Given the description of an element on the screen output the (x, y) to click on. 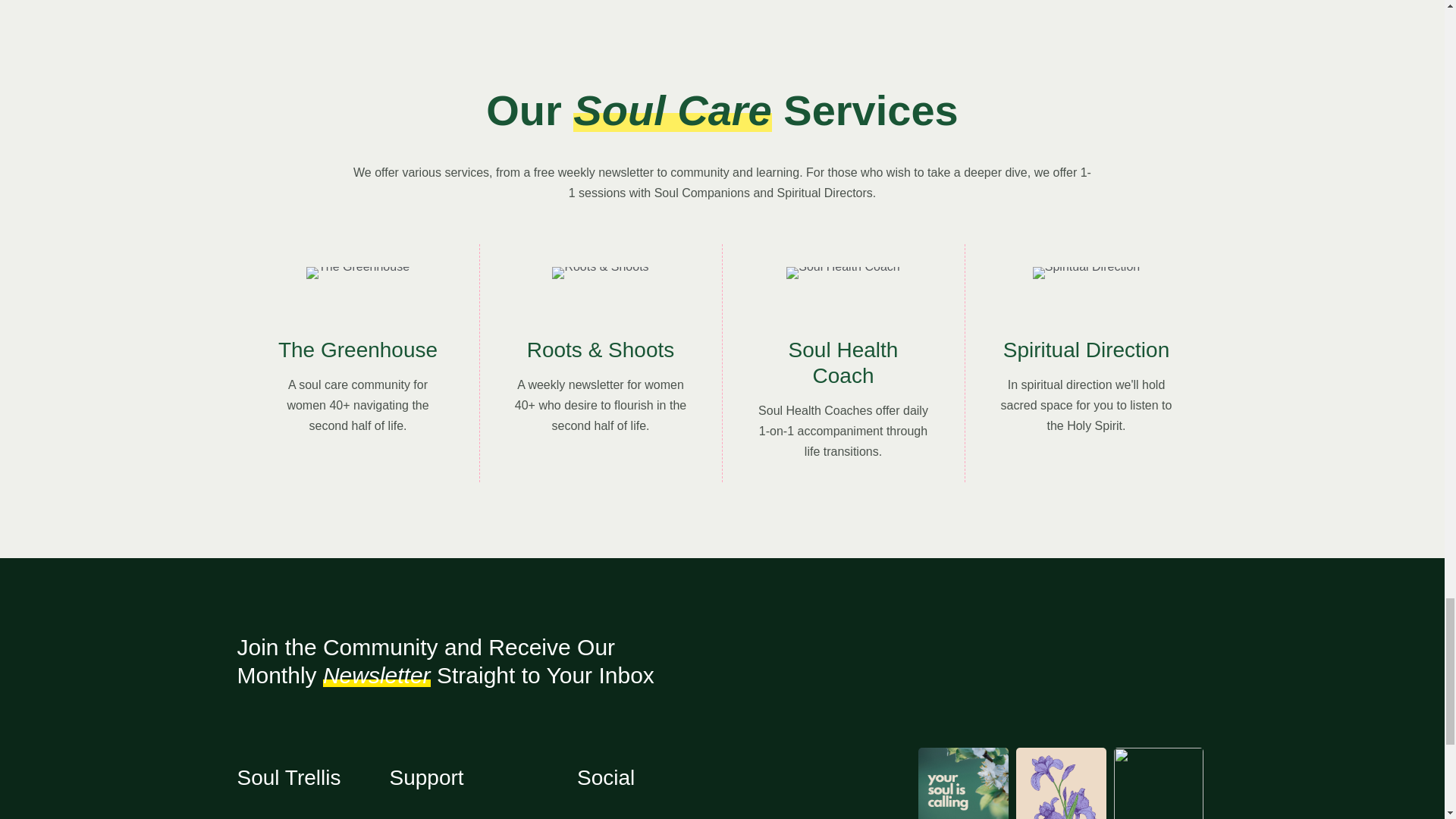
X (700, 816)
About Us (483, 816)
Home (311, 816)
